Given the description of an element on the screen output the (x, y) to click on. 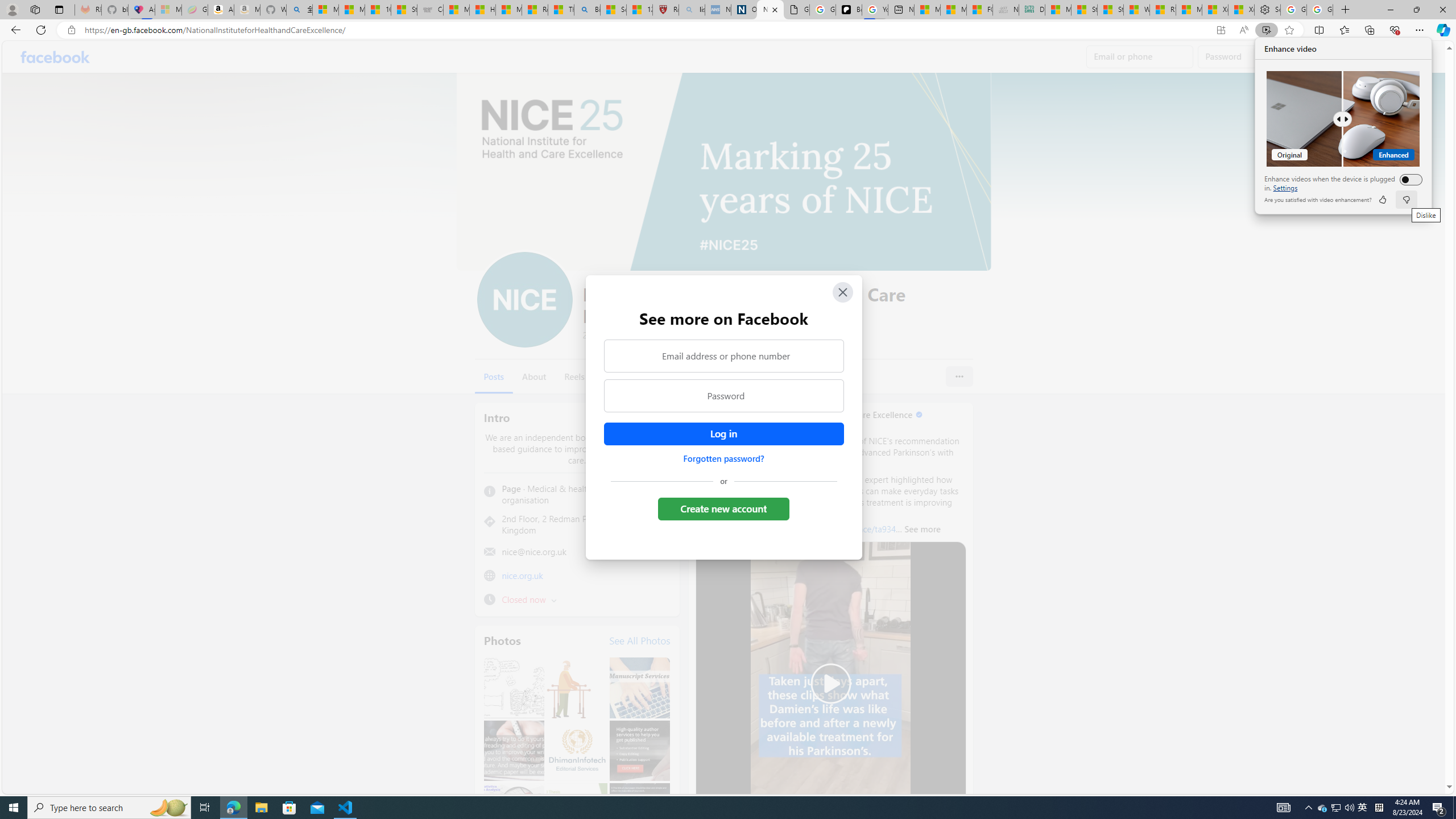
Google Analytics Opt-out Browser Add-on Download Page (795, 9)
Facebook (55, 56)
Password (723, 395)
Email address or phone number (723, 355)
